Given the description of an element on the screen output the (x, y) to click on. 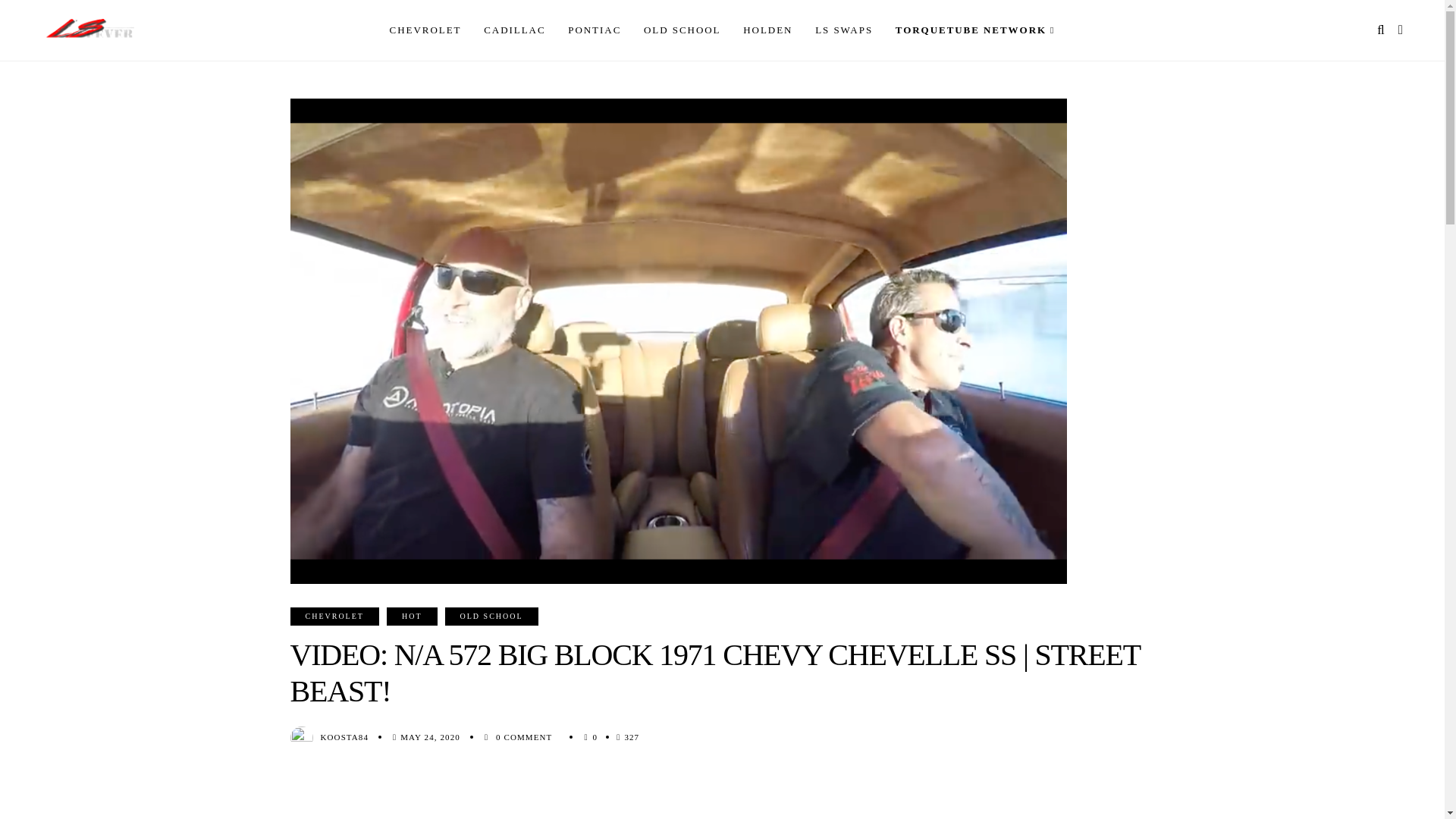
CHEVROLET (333, 616)
OLD SCHOOL (681, 30)
CHEVROLET (425, 30)
TORQUETUBE NETWORK (975, 30)
0 COMMENT (525, 737)
HOT (412, 616)
LS SWAPS (843, 30)
Like (594, 736)
CADILLAC (513, 30)
Posts by koosta84 (344, 737)
OLD SCHOOL (491, 616)
KOOSTA84 (344, 737)
0 (594, 736)
